Given the description of an element on the screen output the (x, y) to click on. 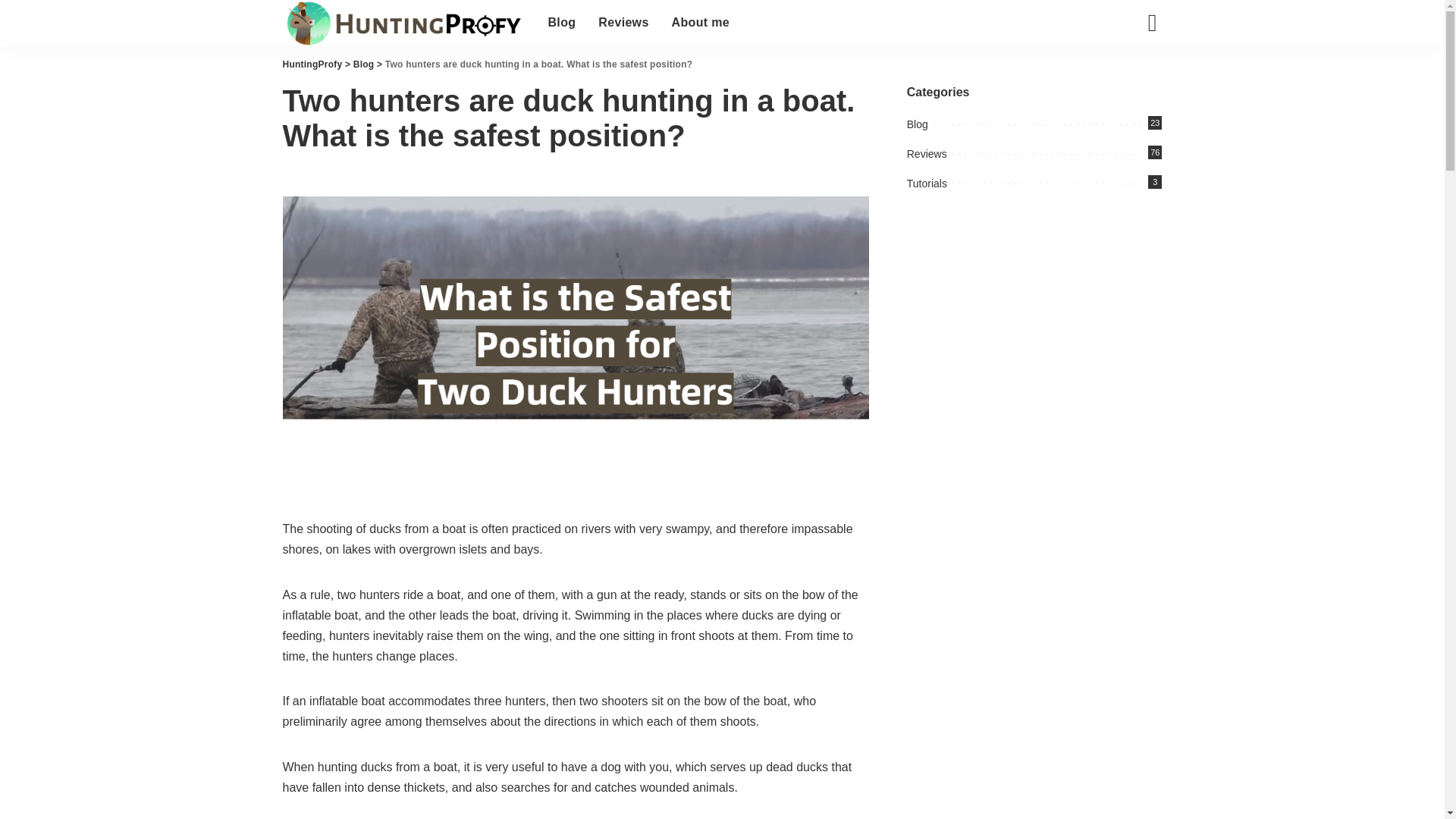
Blog (363, 63)
Go to HuntingProfy. (312, 63)
HuntingProfy (403, 22)
About me (927, 183)
Search (701, 22)
Blog (1140, 76)
Go to the Blog Category archives. (562, 22)
HuntingProfy (363, 63)
